Given the description of an element on the screen output the (x, y) to click on. 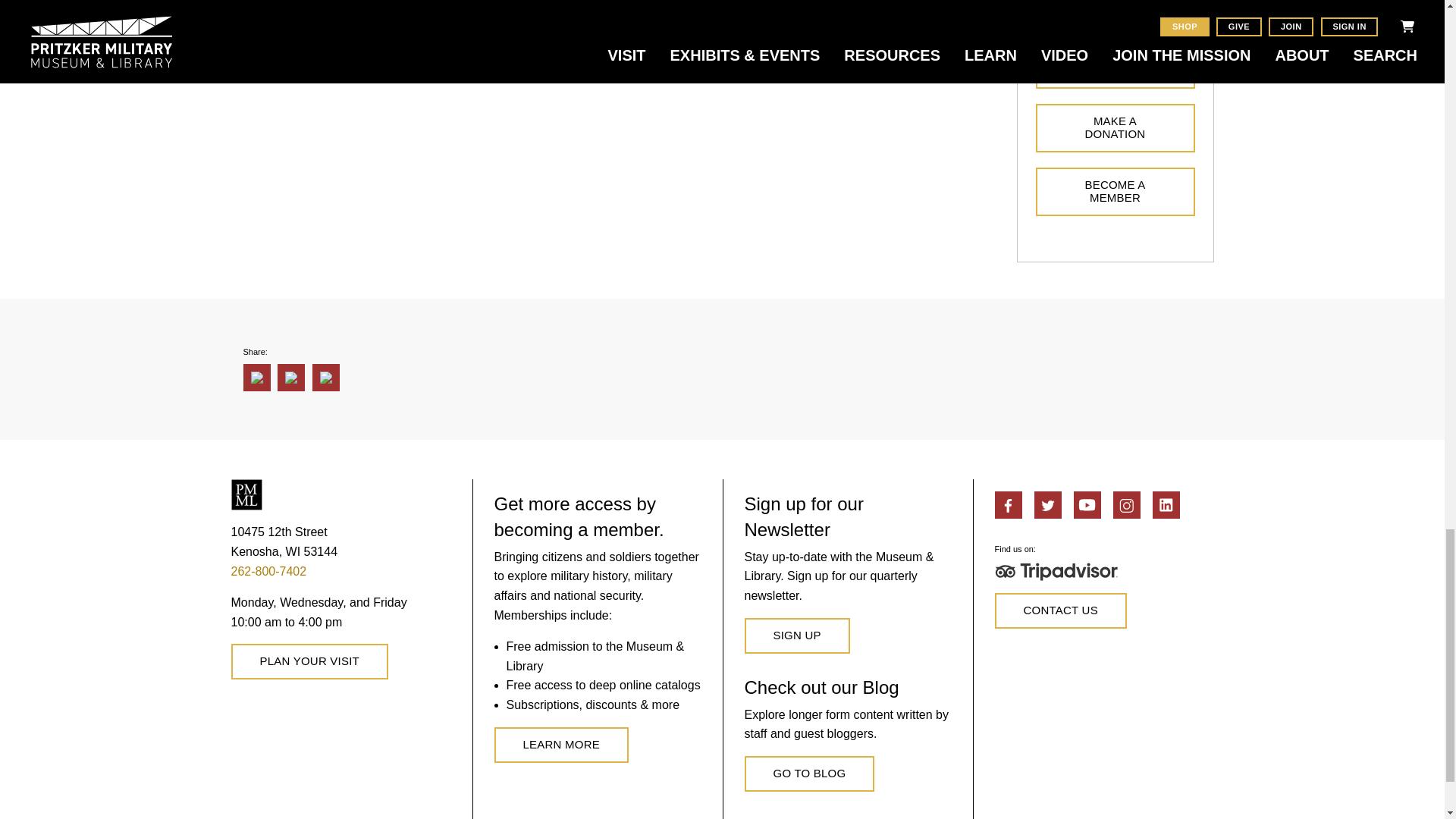
Twitter (1047, 504)
Share to Facebook (256, 377)
LinkIn (1166, 504)
Instagram (1126, 504)
Youtube (1087, 504)
Facebook (1008, 504)
Share to E-mail (326, 377)
Share to Linkedin (291, 377)
